Given the description of an element on the screen output the (x, y) to click on. 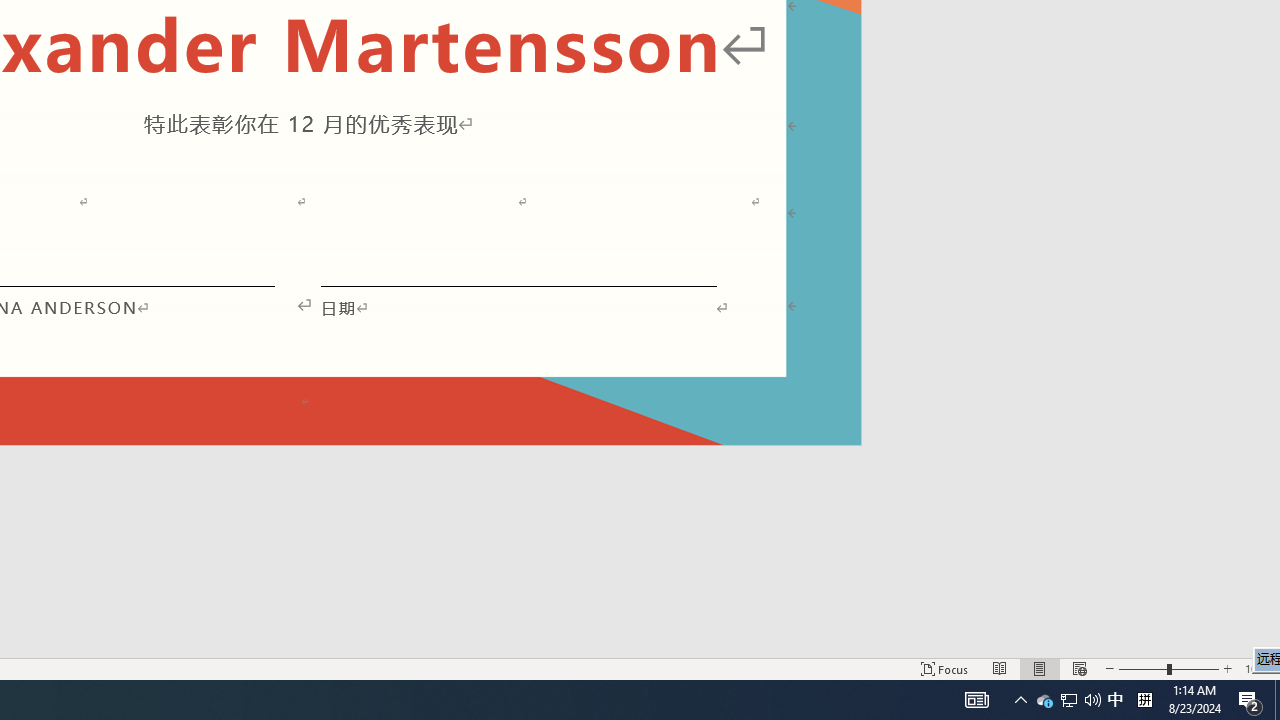
Zoom 100% (1258, 668)
